Given the description of an element on the screen output the (x, y) to click on. 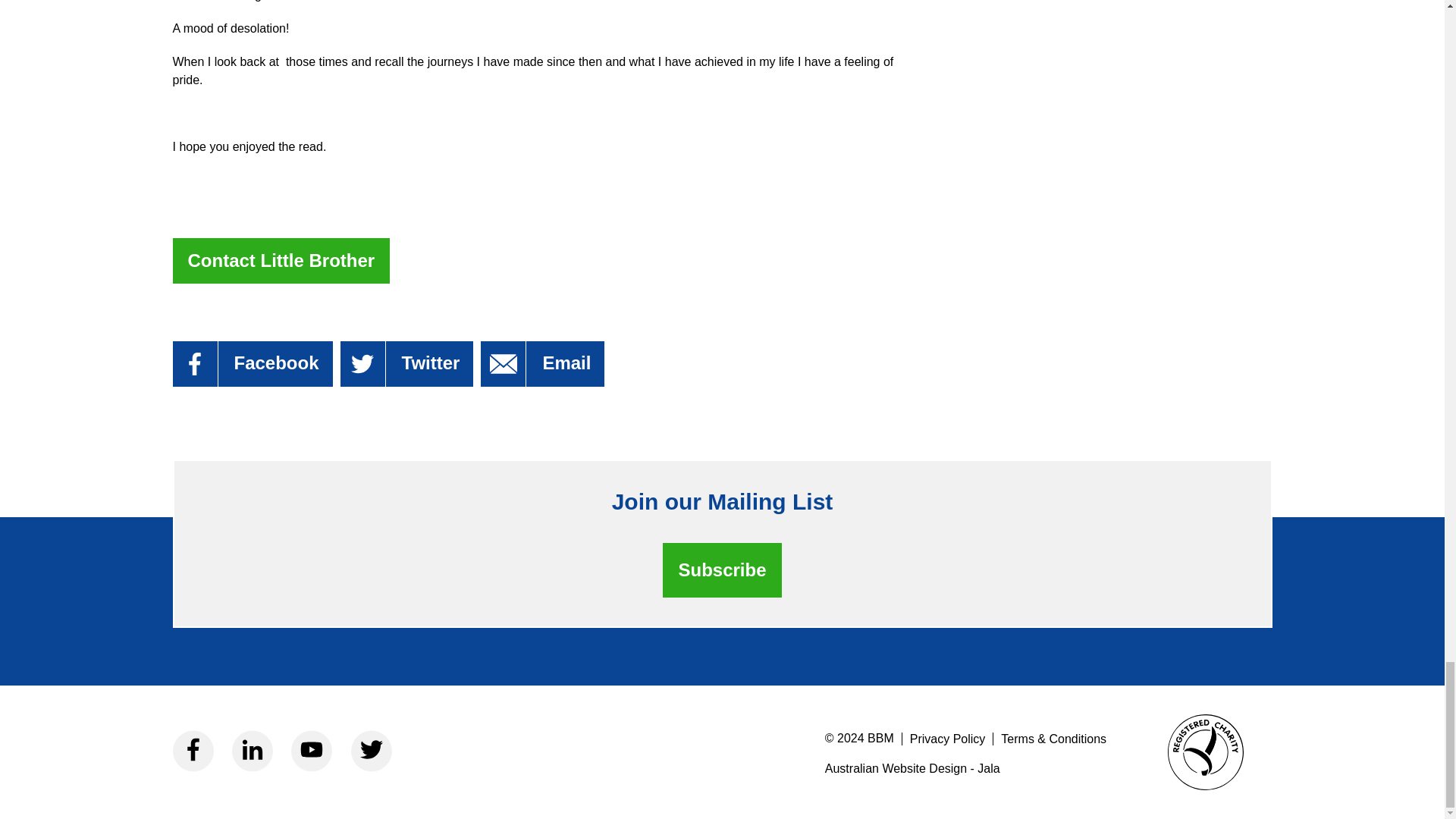
Share by Twitter (407, 363)
Share by Facebook (253, 363)
Share by Email (542, 363)
Jala Design (965, 768)
Twitter (407, 363)
Email (542, 363)
Contact Little Brother (281, 260)
Facebook (253, 363)
